Given the description of an element on the screen output the (x, y) to click on. 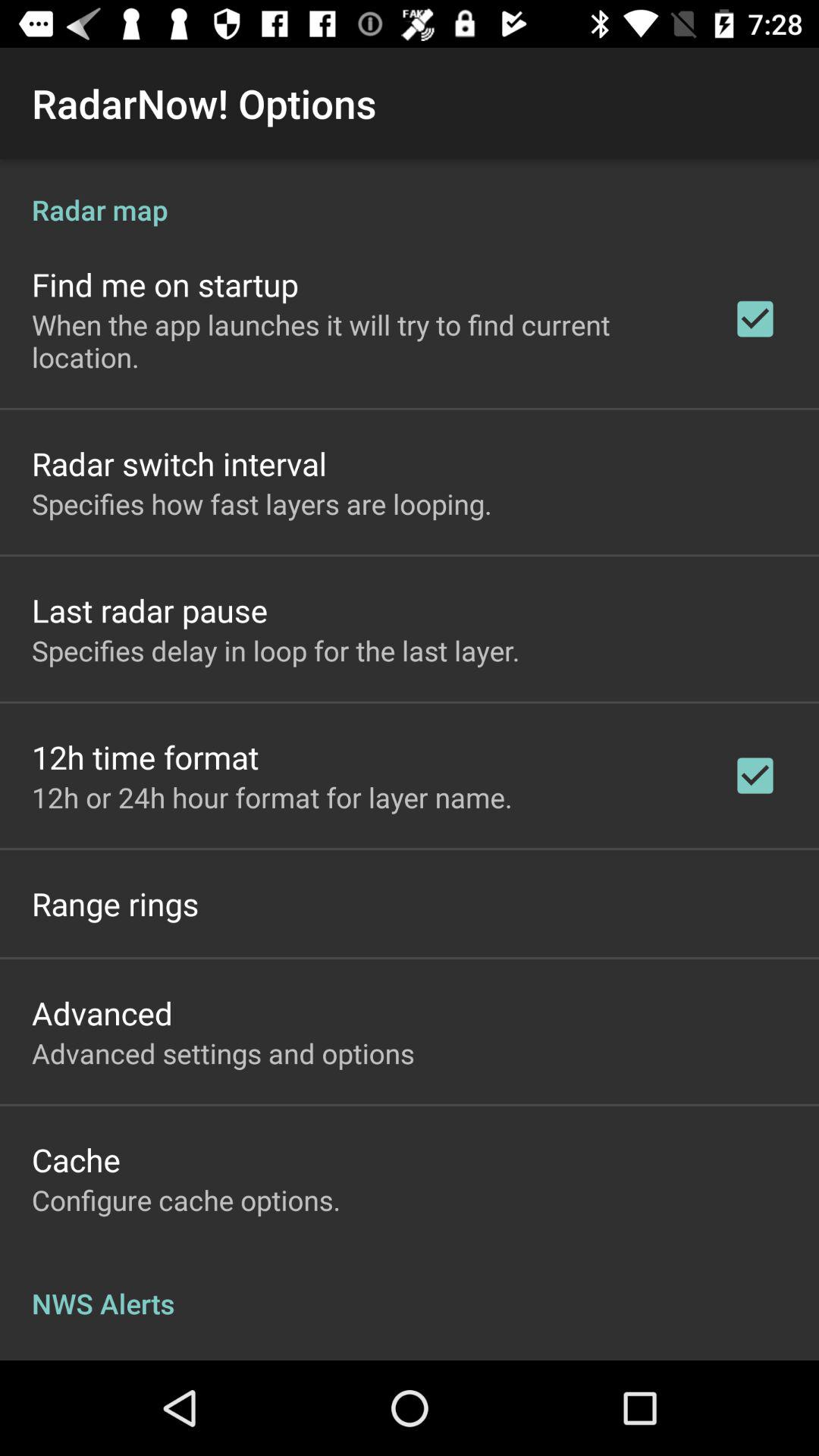
select the range rings (115, 903)
